Given the description of an element on the screen output the (x, y) to click on. 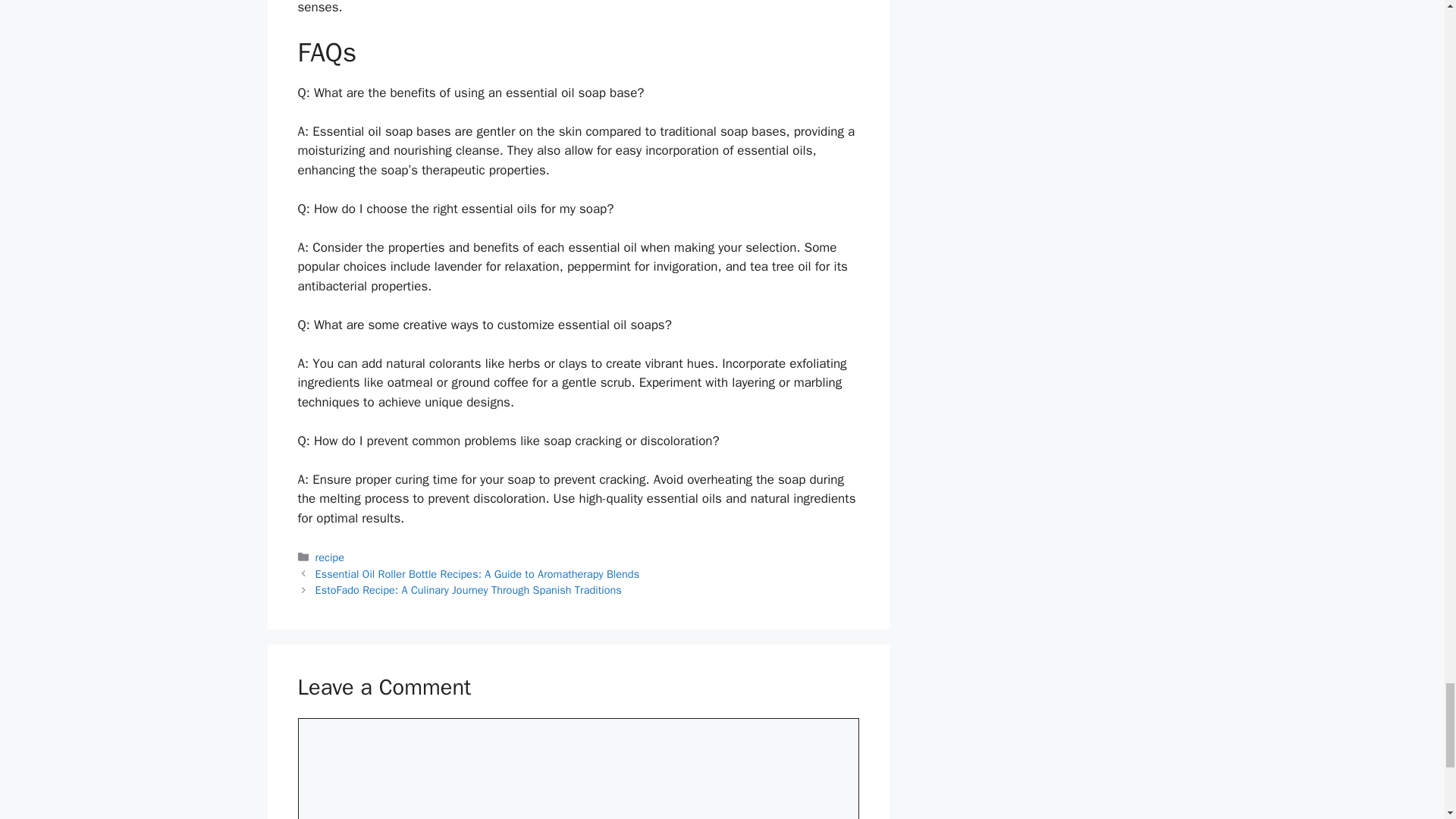
recipe (329, 557)
